Given the description of an element on the screen output the (x, y) to click on. 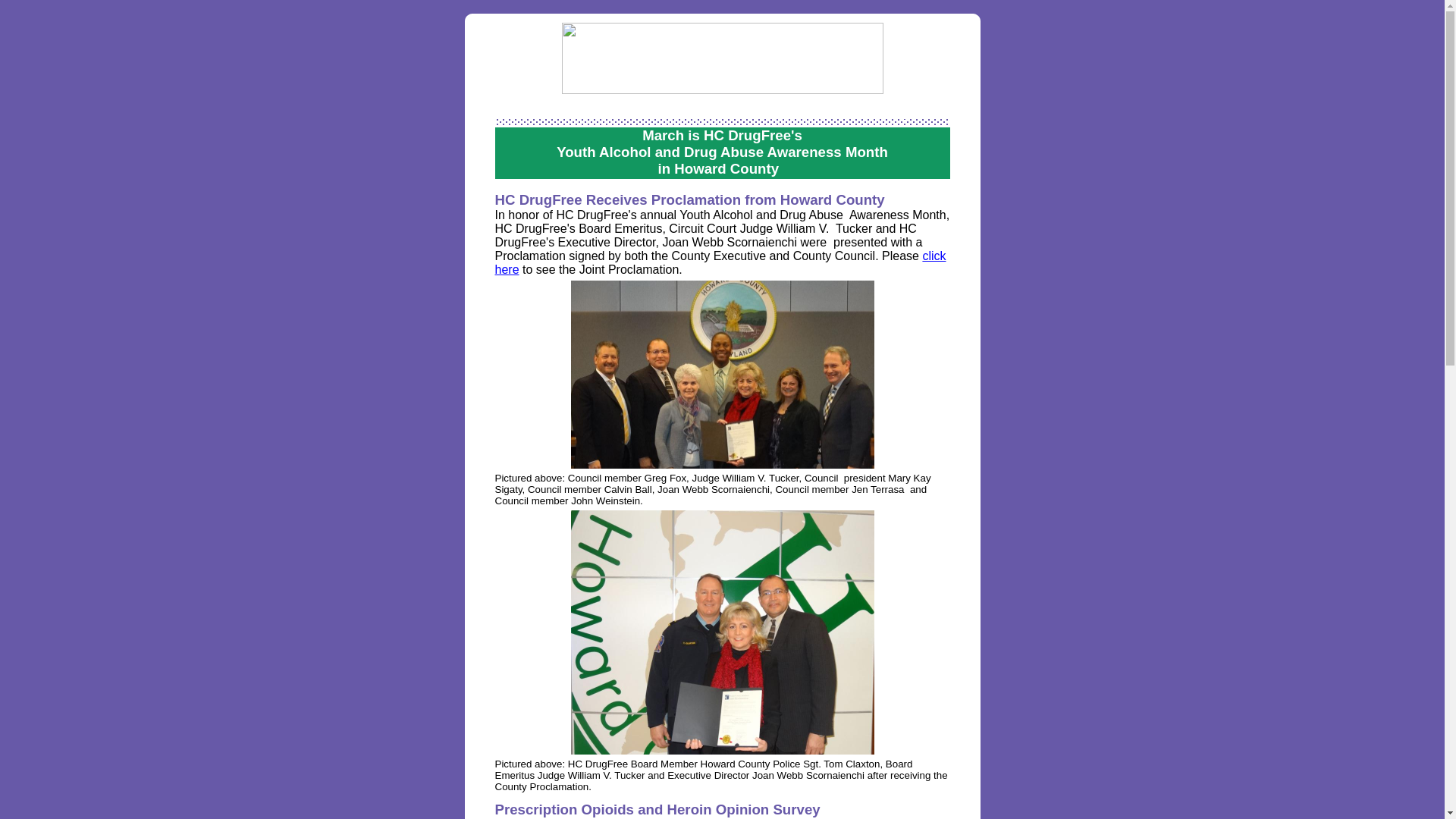
click here (719, 262)
